Given the description of an element on the screen output the (x, y) to click on. 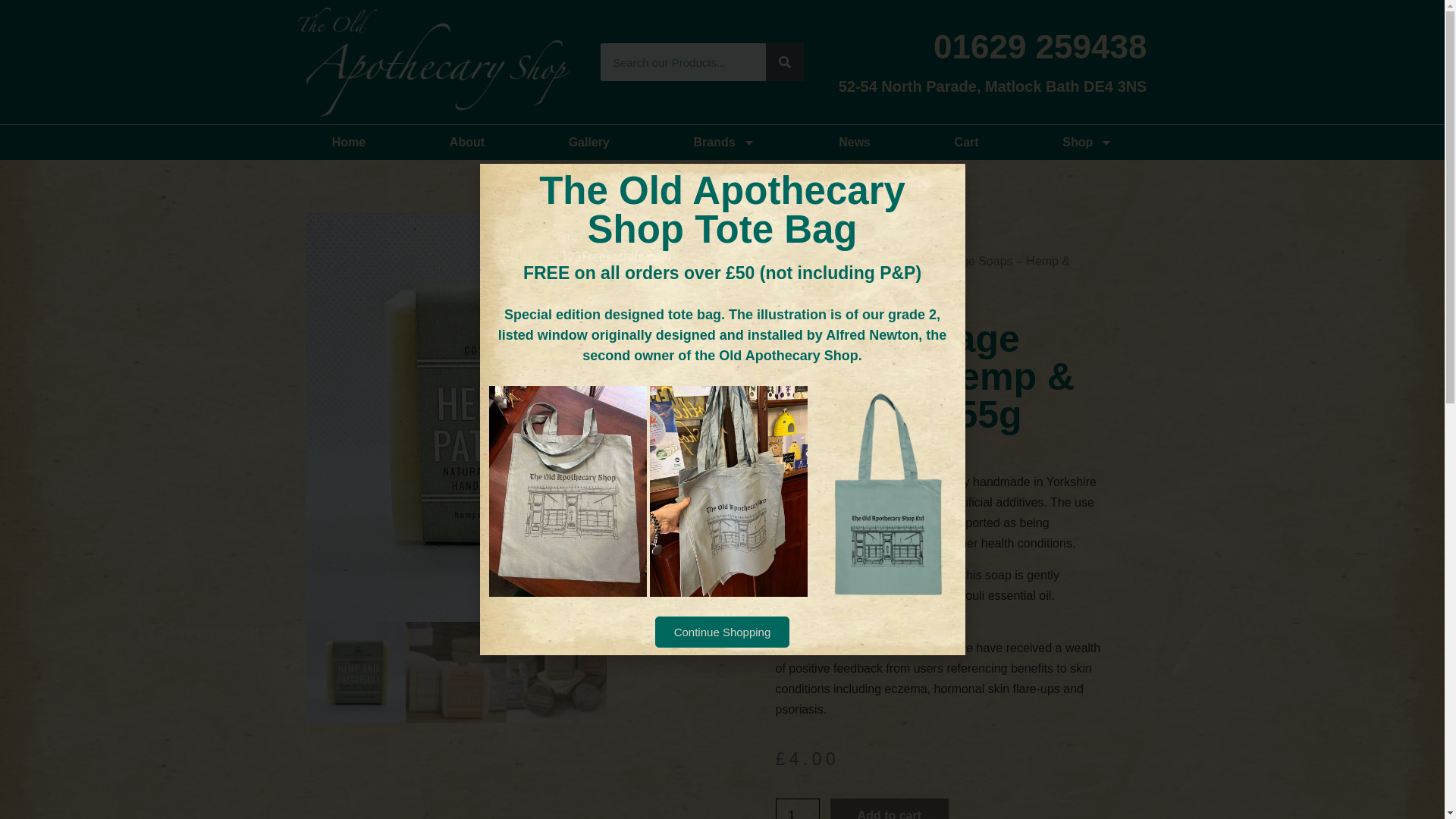
About (467, 142)
1 (796, 808)
Brands (723, 142)
Home (348, 142)
Gallery (587, 142)
Shop (1087, 142)
Cart (966, 142)
News (854, 142)
TOAS landscape Logo white text1 (433, 62)
